Given the description of an element on the screen output the (x, y) to click on. 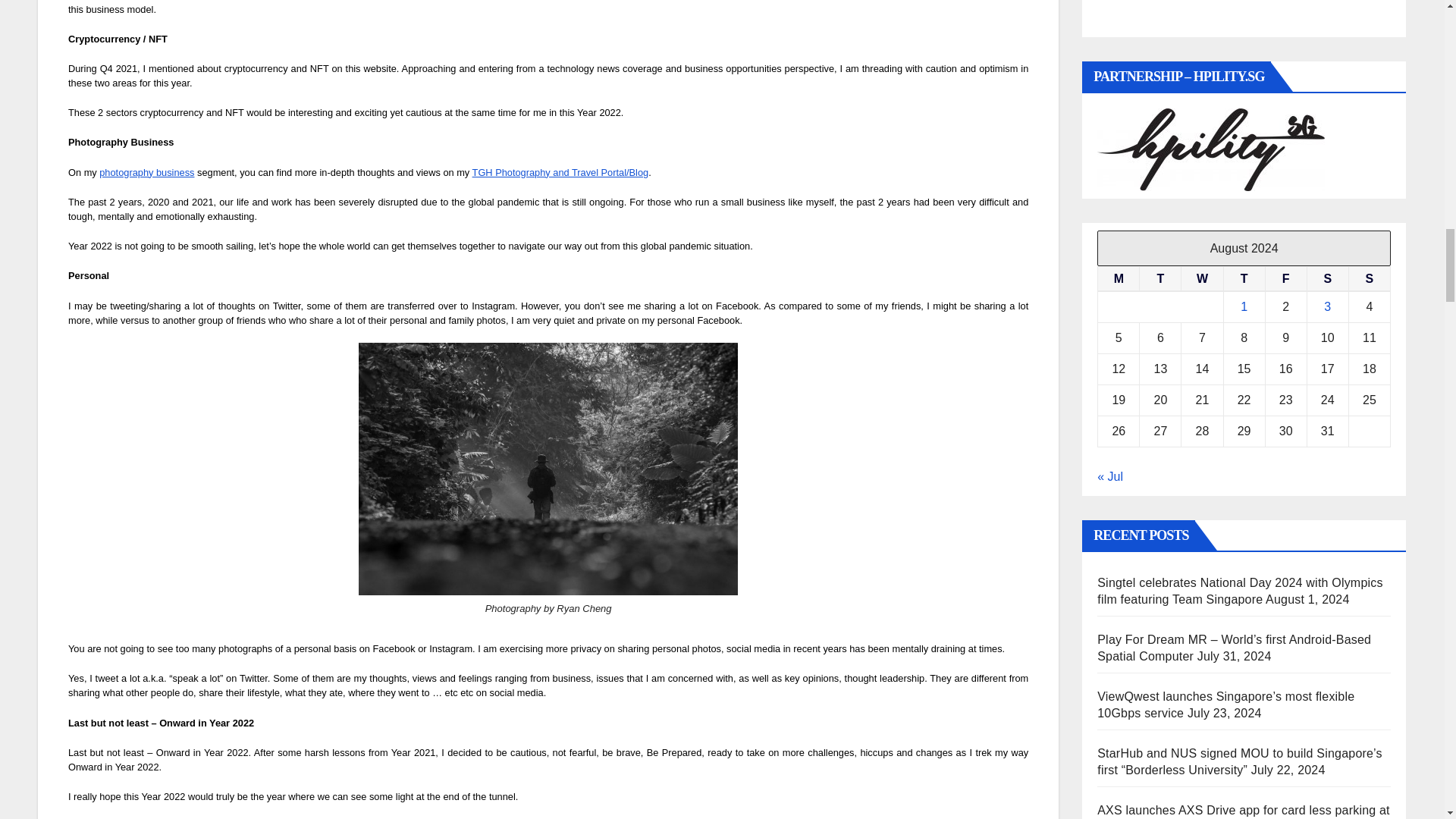
Wednesday (1201, 278)
Tuesday (1160, 278)
Friday (1285, 278)
Thursday (1244, 278)
Saturday (1327, 278)
Sunday (1369, 278)
Monday (1118, 278)
